Given the description of an element on the screen output the (x, y) to click on. 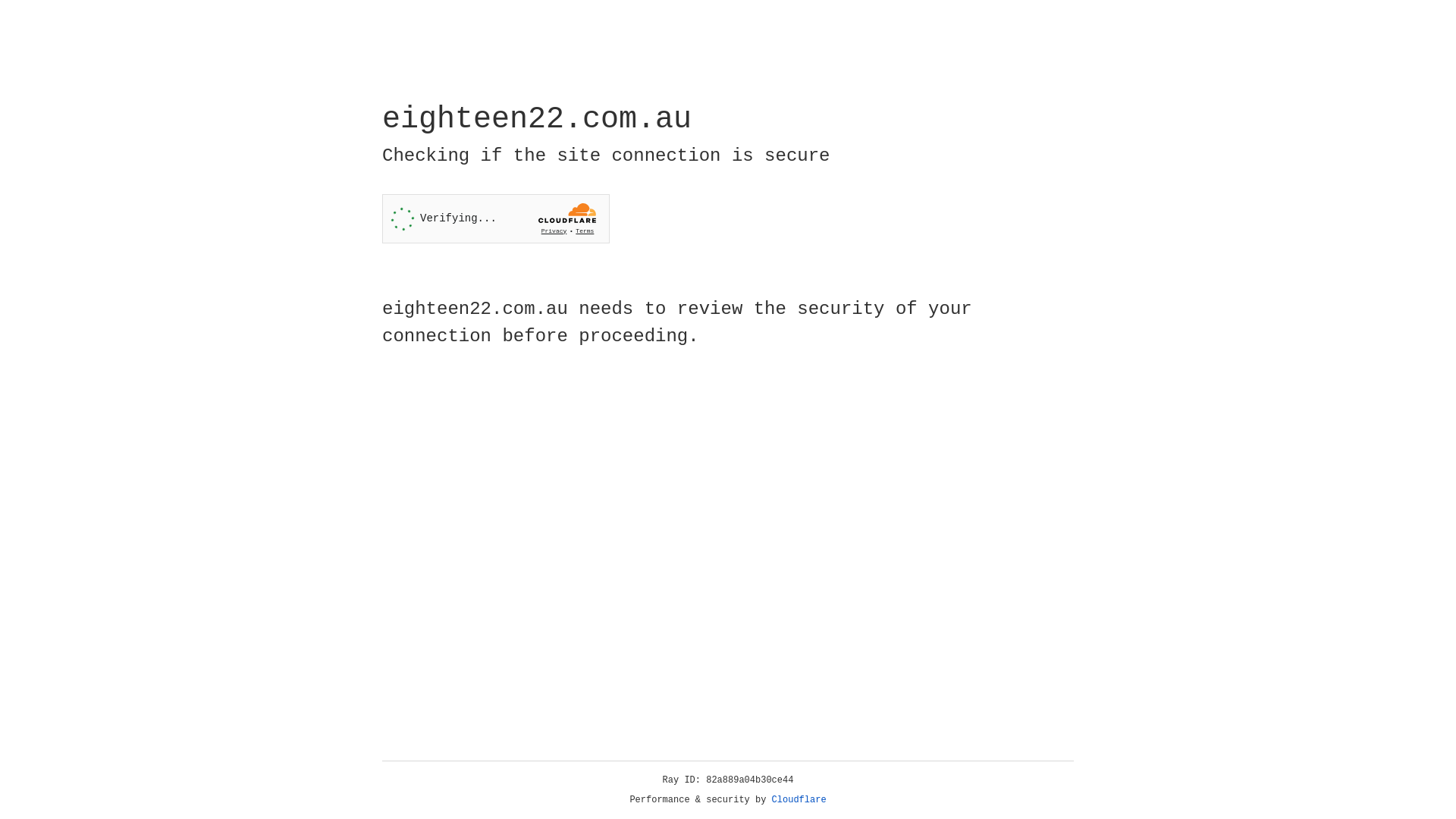
Cloudflare Element type: text (798, 799)
Widget containing a Cloudflare security challenge Element type: hover (495, 218)
